Given the description of an element on the screen output the (x, y) to click on. 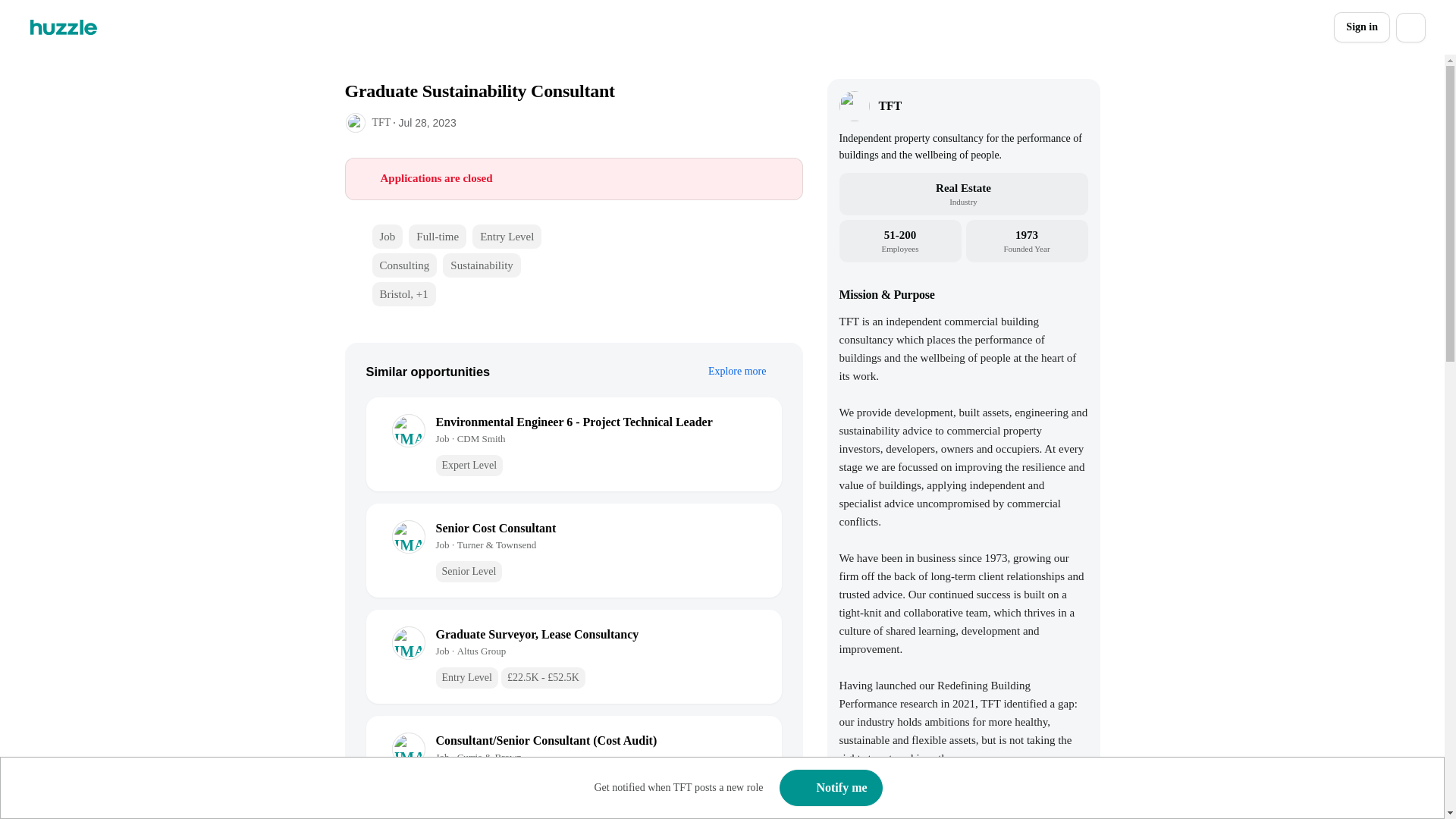
Sign in (1361, 27)
TFT (889, 105)
Notify me (830, 787)
Explore more (744, 371)
TFT (380, 122)
